Given the description of an element on the screen output the (x, y) to click on. 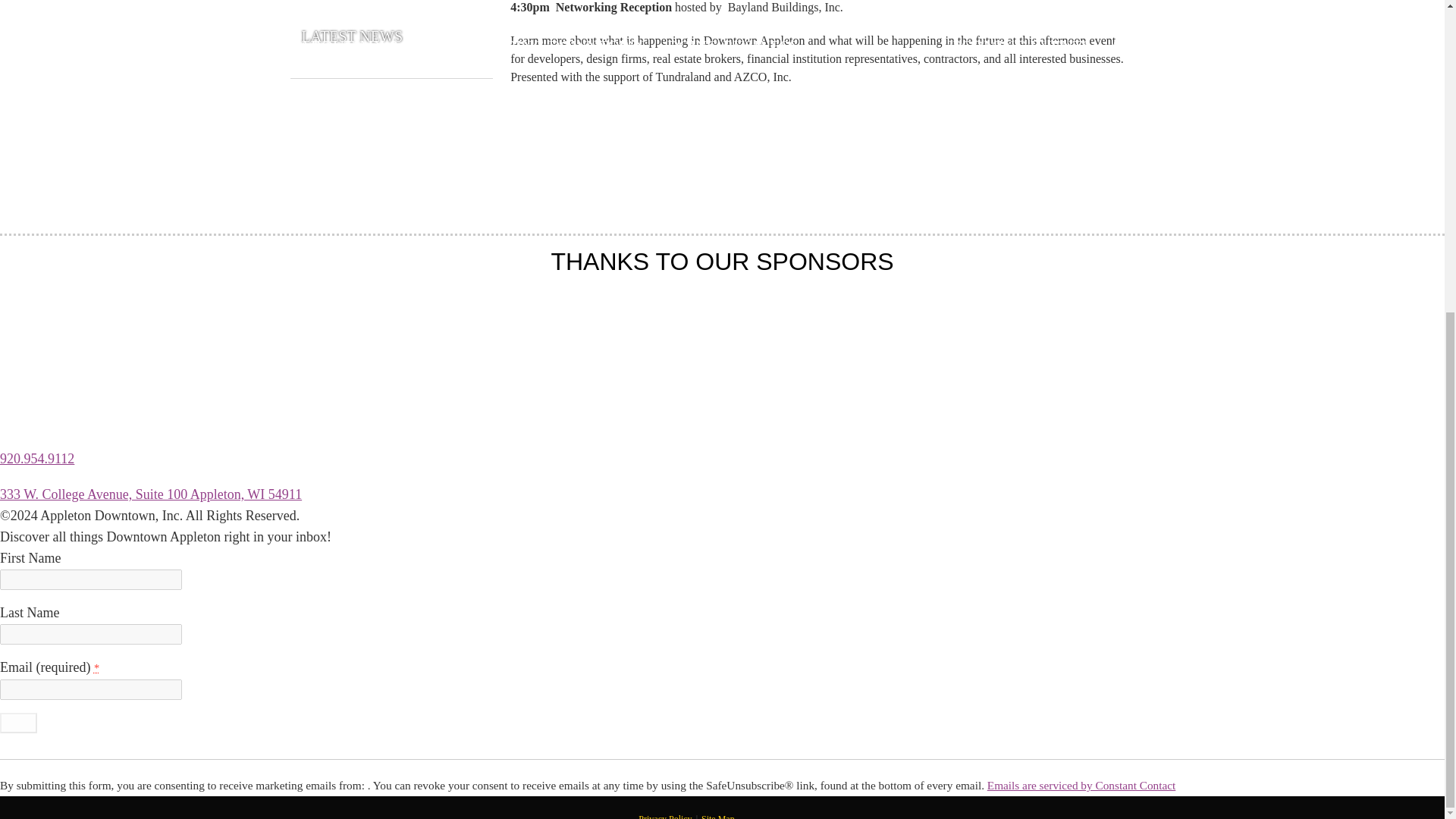
GO! (18, 722)
